Given the description of an element on the screen output the (x, y) to click on. 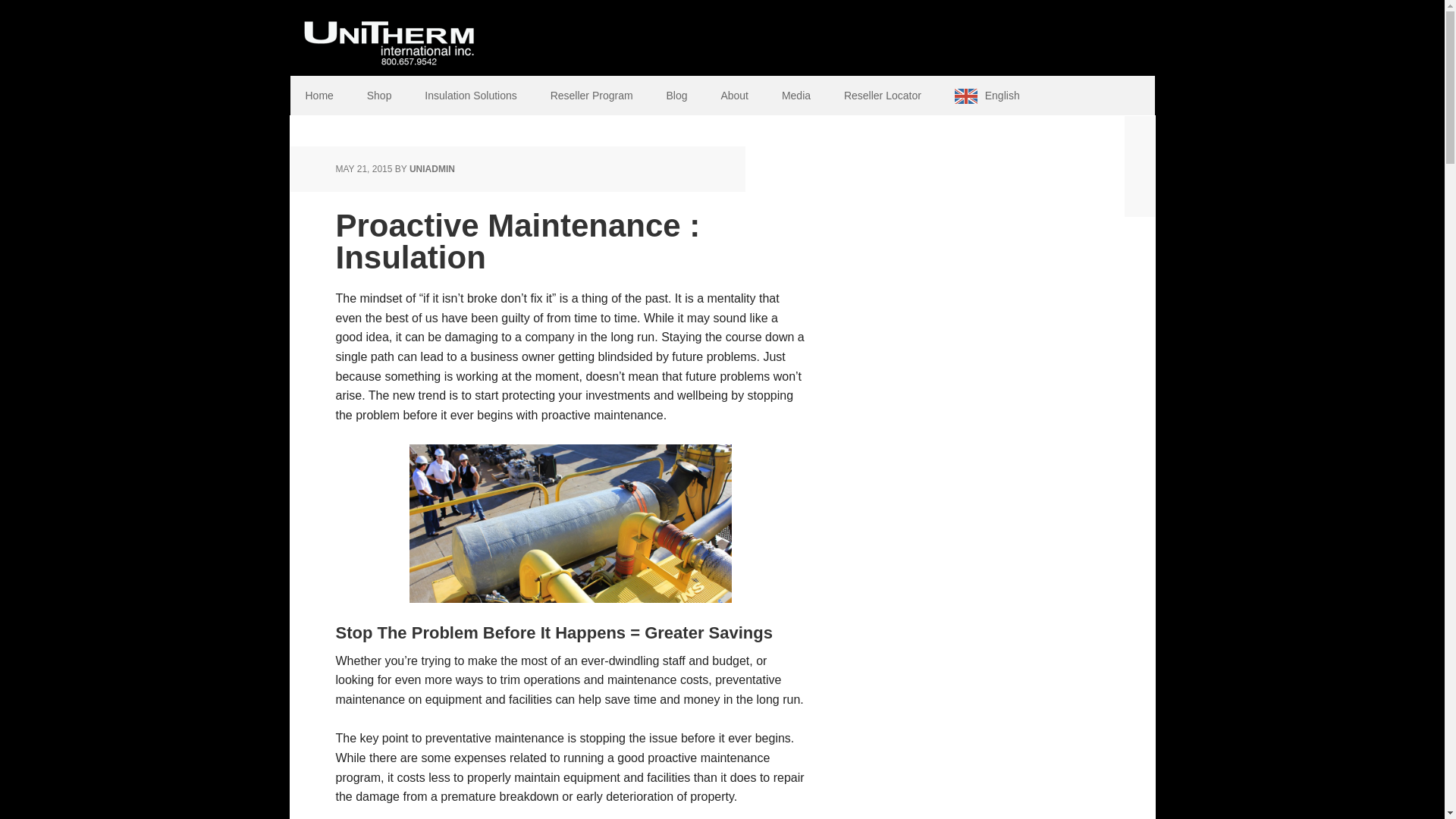
Proactive Maintenance : Insulation (517, 241)
Unitherm Insulation Systems (387, 38)
English (987, 96)
Shop (379, 96)
Reseller Program (591, 96)
Insulation Solutions (470, 96)
Blog (675, 96)
Reseller Locator (882, 96)
English (987, 96)
Home (318, 96)
